Given the description of an element on the screen output the (x, y) to click on. 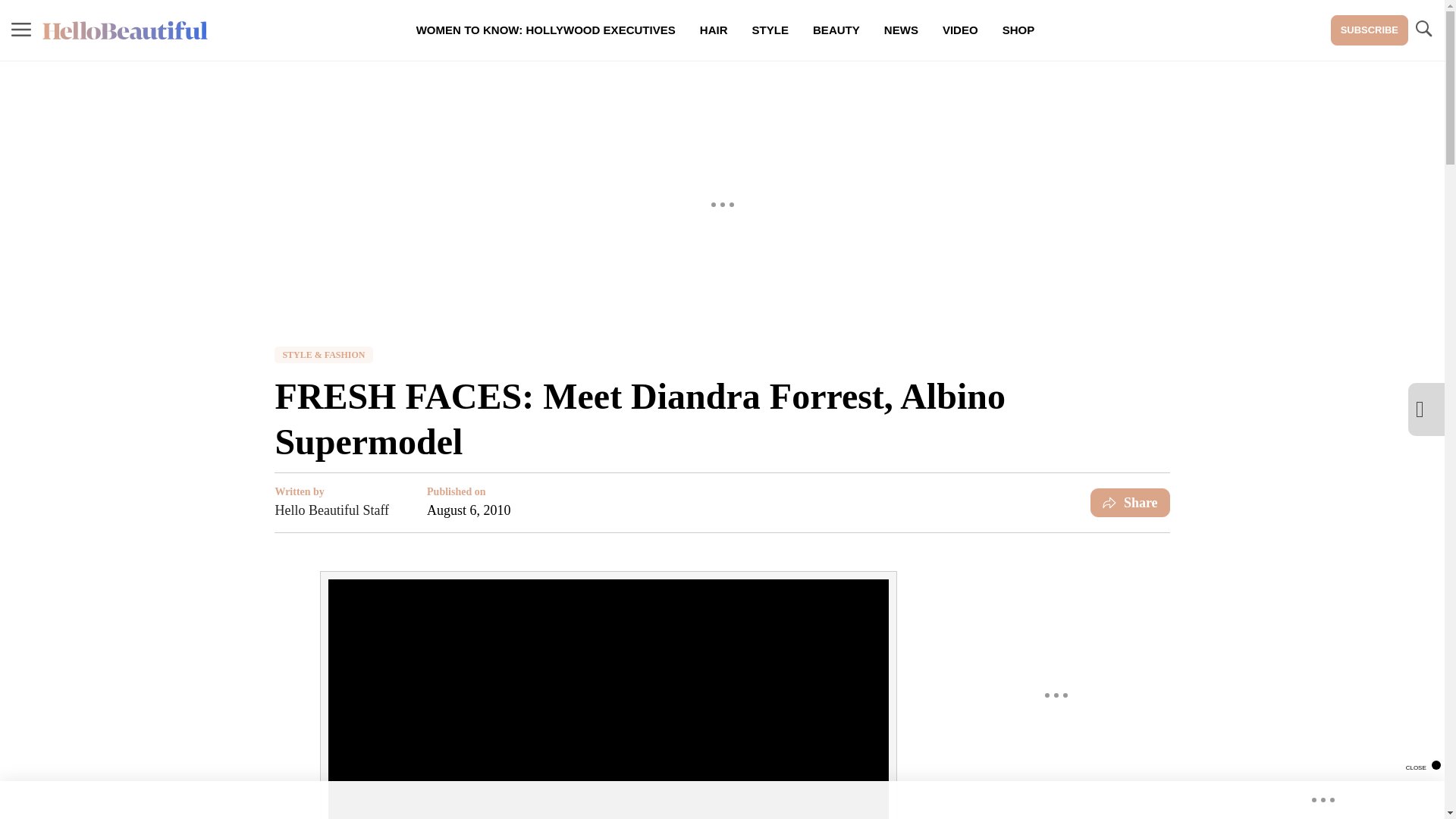
BEAUTY (836, 30)
NEWS (901, 30)
STYLE (769, 30)
Hello Beautiful Staff (331, 509)
TOGGLE SEARCH (1422, 28)
MENU (20, 29)
SHOP (1018, 30)
WOMEN TO KNOW: HOLLYWOOD EXECUTIVES (545, 30)
MENU (20, 30)
VIDEO (960, 30)
